Given the description of an element on the screen output the (x, y) to click on. 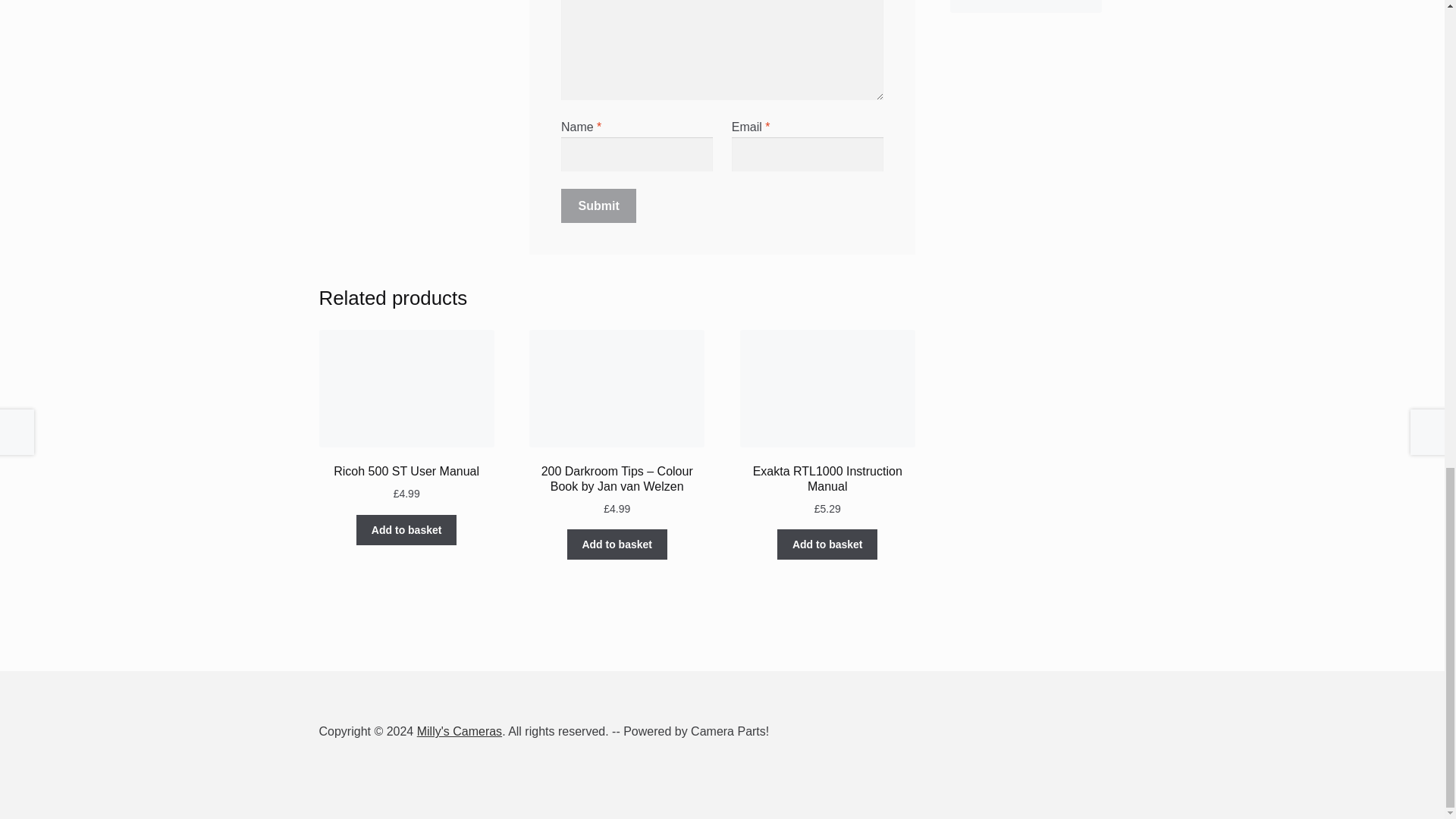
Add to basket (406, 530)
Submit (598, 206)
Add to basket (616, 544)
Milly's Cameras (459, 730)
Submit (598, 206)
Wickham Soap Co. (1026, 6)
